Given the description of an element on the screen output the (x, y) to click on. 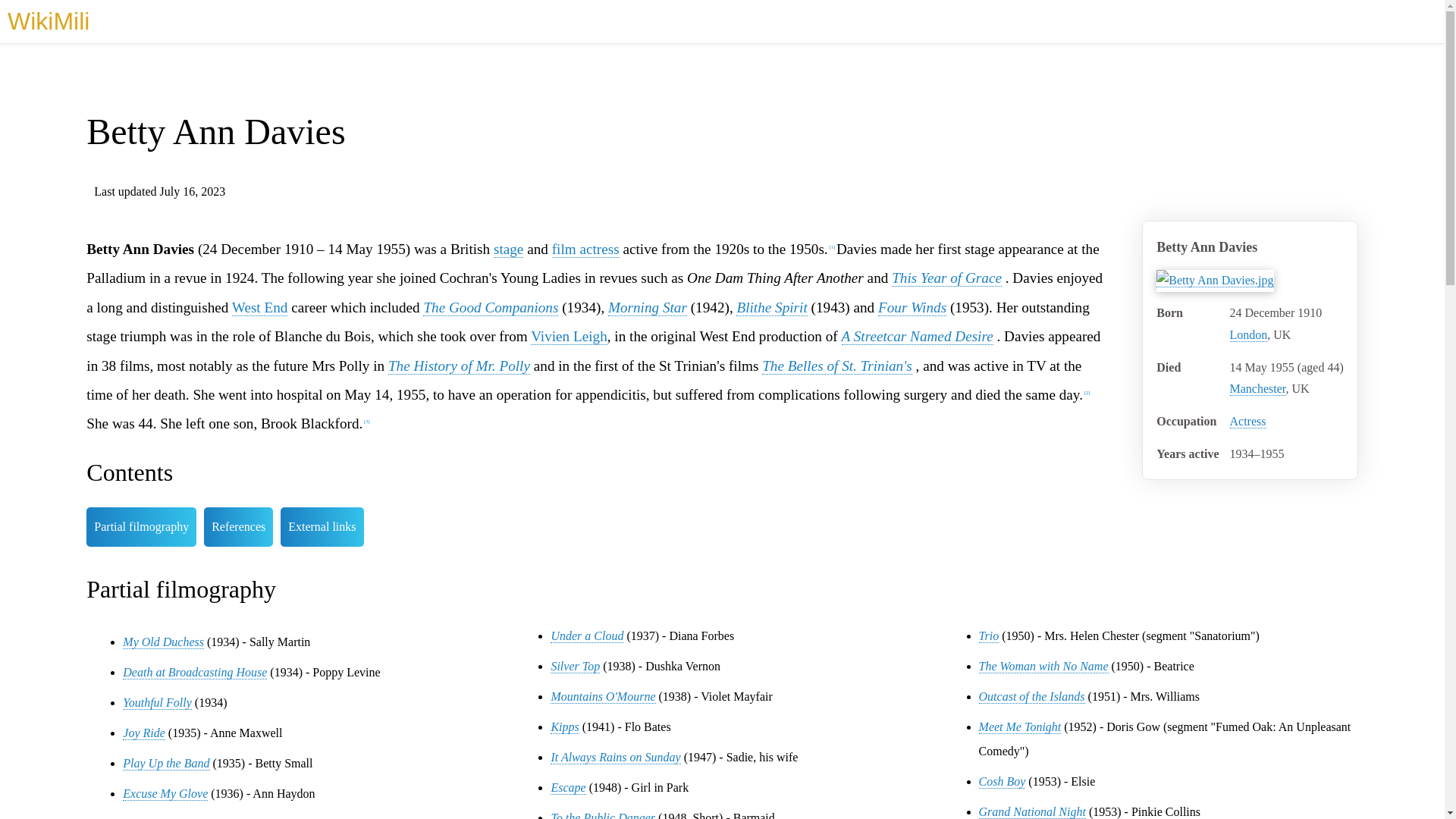
References (238, 526)
A Streetcar Named Desire (916, 336)
Emlyn Williams (647, 307)
The Belles of St. Trinian's (836, 365)
My Old Duchess (162, 642)
Death at Broadcasting House (194, 672)
Death at Broadcasting House (194, 672)
Morning Star (647, 307)
This Year of Grace (946, 278)
This Year of Grace (946, 278)
My Old Duchess (162, 642)
film actress (585, 248)
Play Up the Band (165, 763)
London (1249, 335)
West End theatre (259, 307)
